Given the description of an element on the screen output the (x, y) to click on. 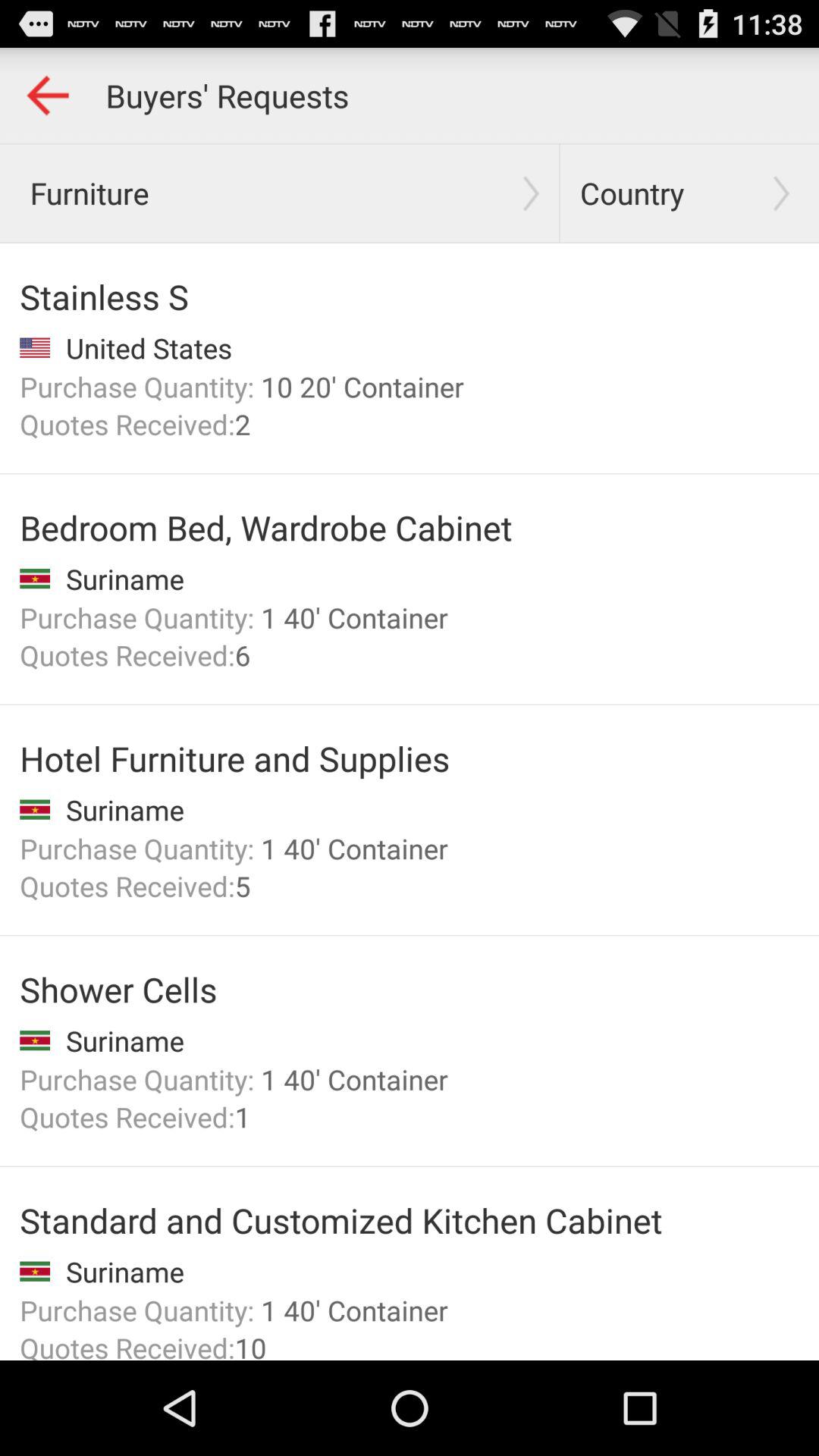
previous page (47, 95)
